Given the description of an element on the screen output the (x, y) to click on. 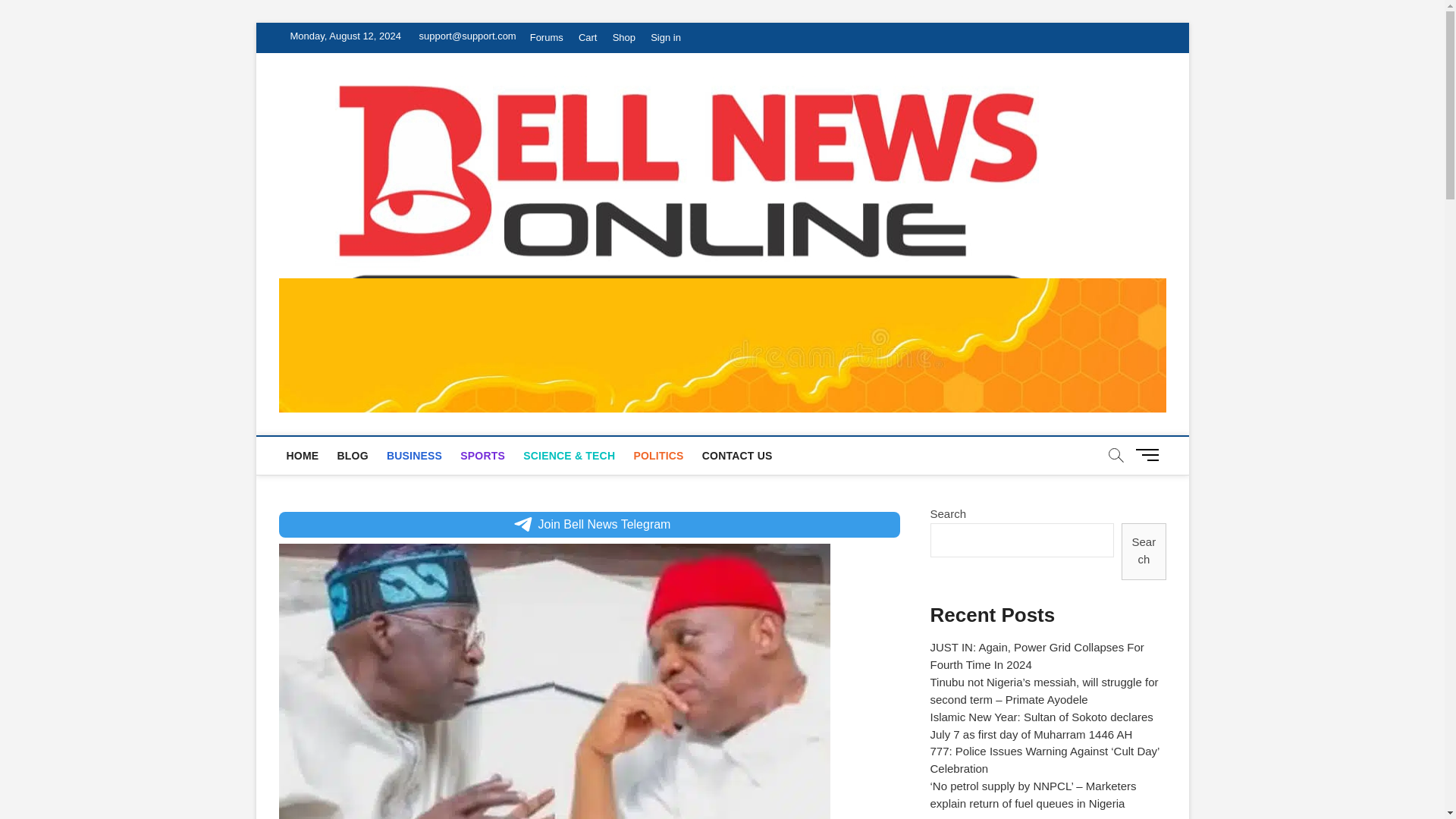
Bell News (1137, 119)
Forums (546, 37)
BUSINESS (413, 455)
Menu Button (1150, 454)
Bell News (1137, 119)
Shop (624, 37)
CONTACT US (737, 455)
Sign in (666, 37)
Mail Us (464, 35)
